Given the description of an element on the screen output the (x, y) to click on. 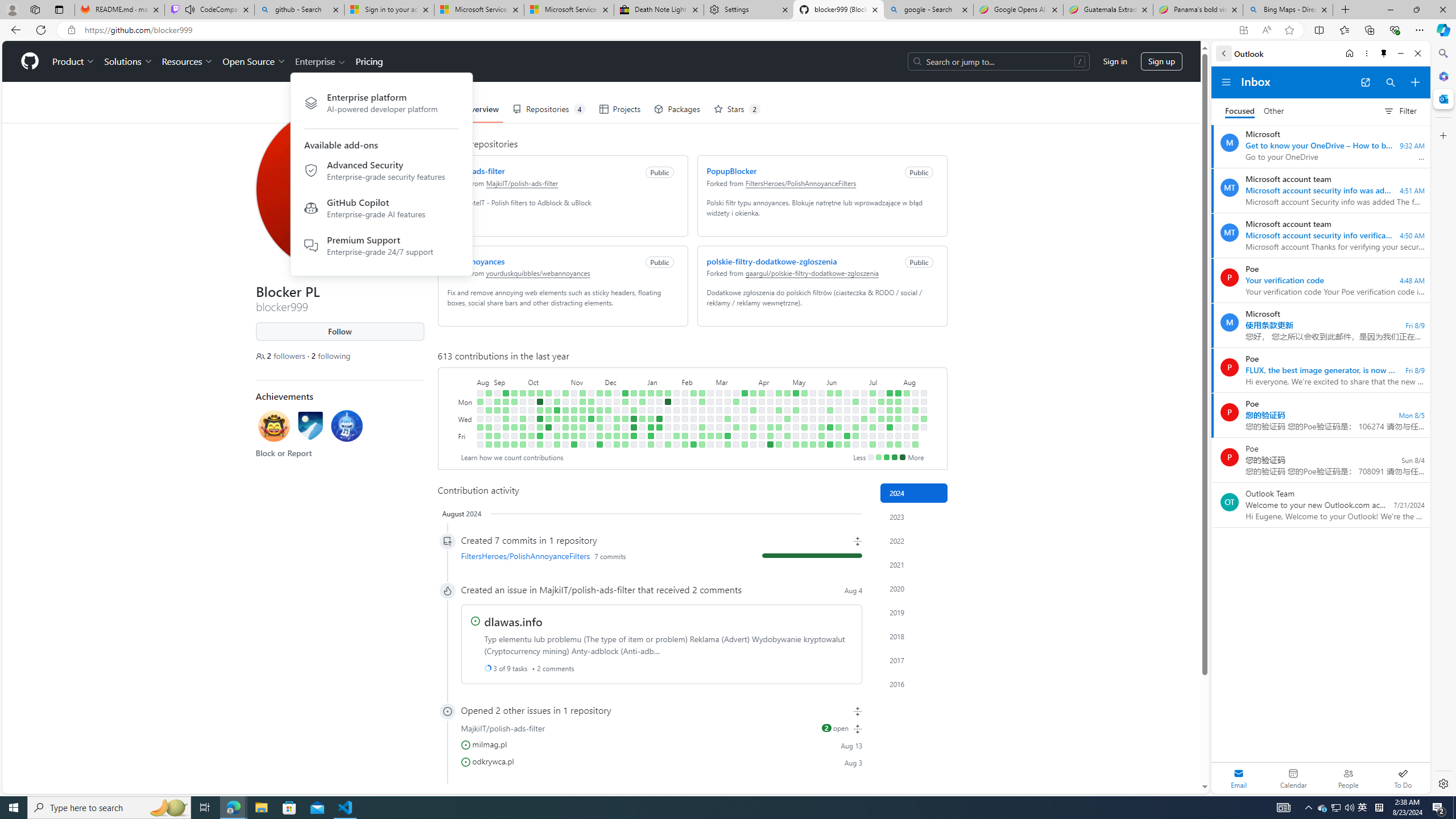
No contributions on May 8th. (795, 418)
yourduskquibbles/webannoyances (537, 272)
Favorites (1344, 29)
2 contributions on December 16th. (616, 444)
1 contribution on October 31st. (565, 410)
gaargul/polskie-filtry-dodatkowe-zgloszenia (812, 272)
No contributions on July 16th. (880, 410)
July (885, 380)
No contributions on January 15th. (658, 401)
Thursday (465, 427)
No contributions on May 14th. (804, 410)
Product (74, 60)
dlawas.info (513, 620)
No contributions on October 21st. (547, 444)
